Given the description of an element on the screen output the (x, y) to click on. 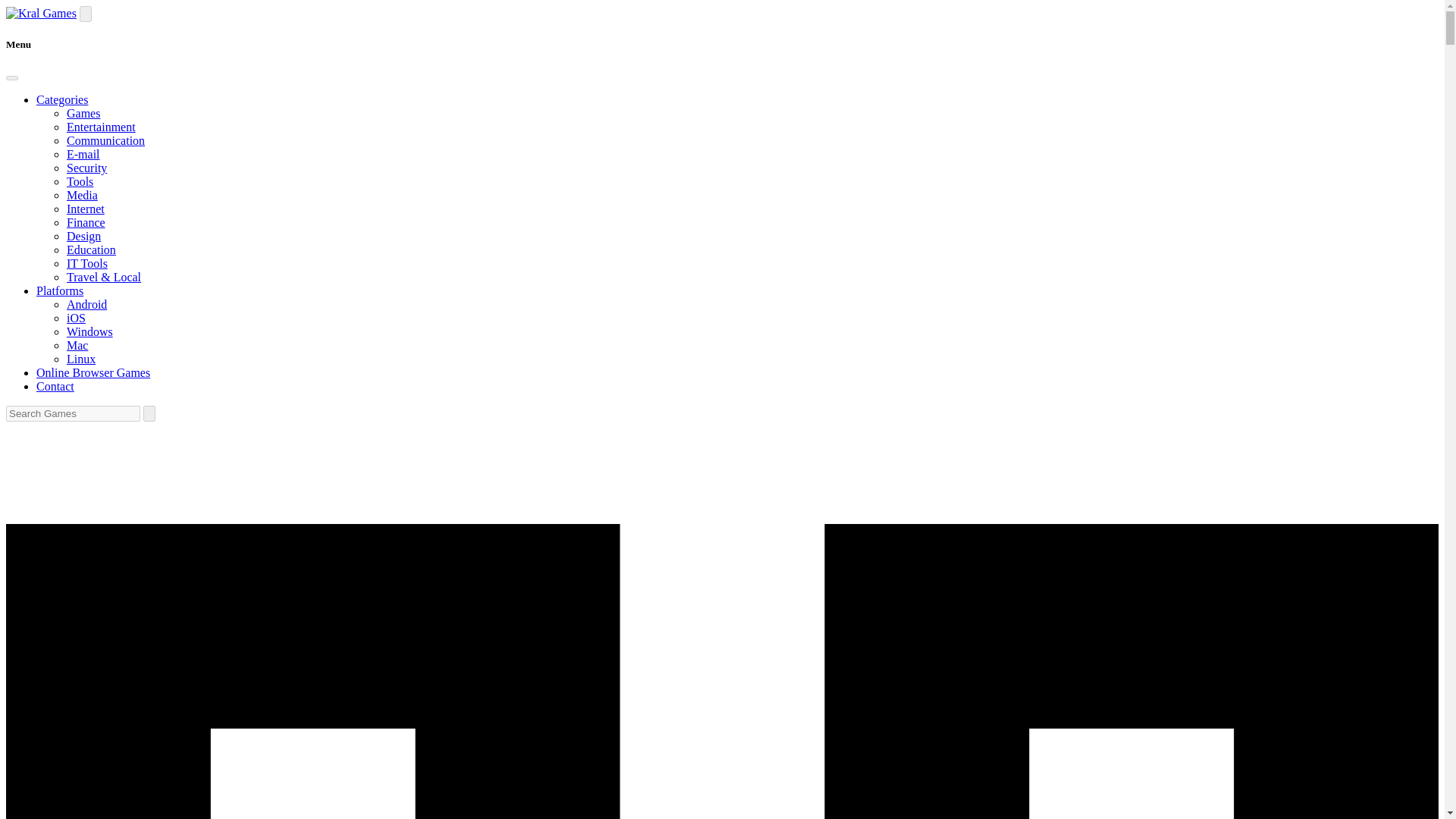
Education (91, 249)
iOS (75, 318)
Tools (79, 181)
Mac (76, 345)
Contact (55, 386)
Finance (85, 222)
Internet (85, 208)
Online Browser Games (92, 372)
Android (86, 304)
Design (83, 236)
